Given the description of an element on the screen output the (x, y) to click on. 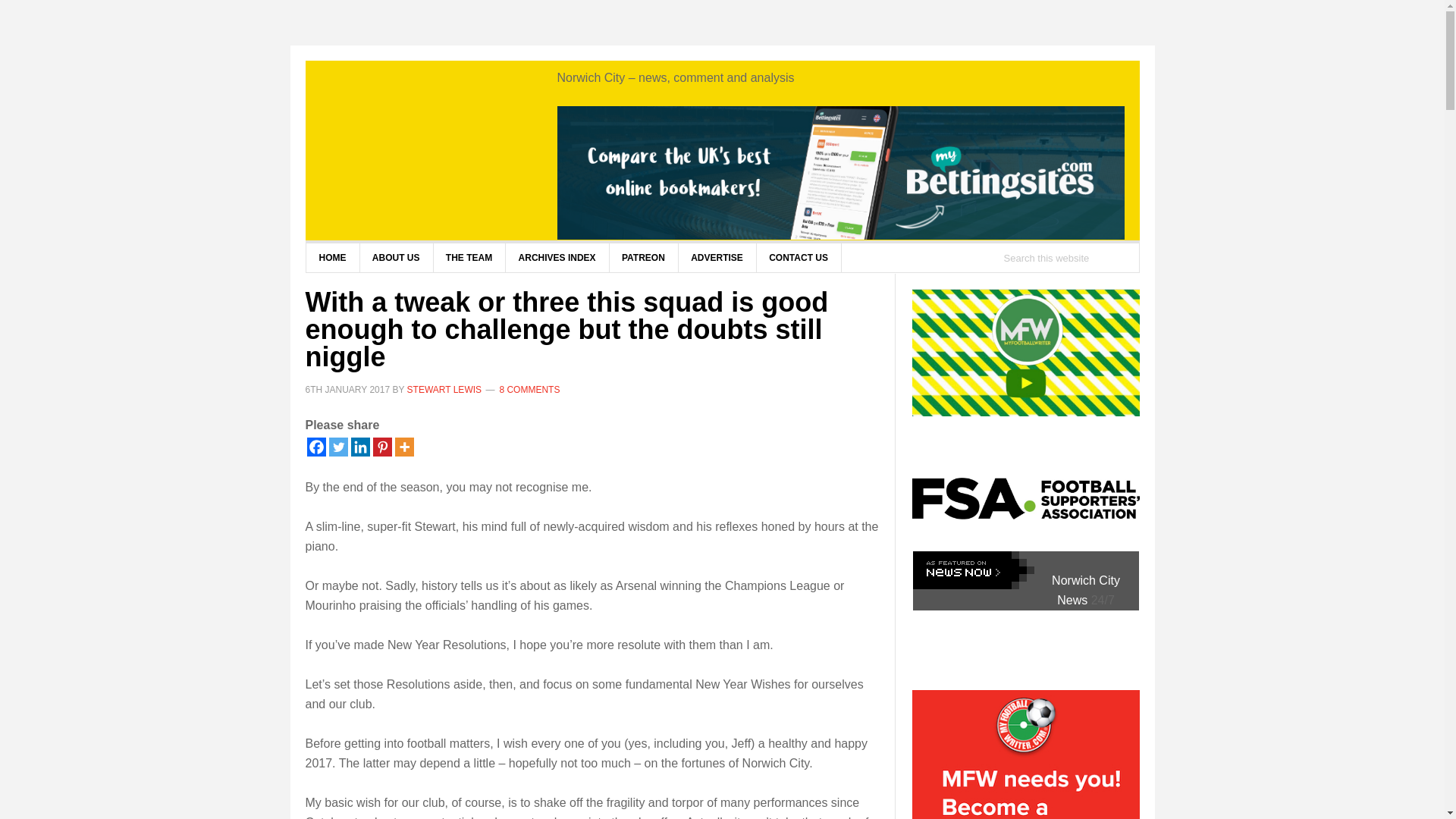
MY FOOTBALL WRITER (426, 147)
PATREON (643, 257)
Pinterest (381, 446)
ABOUT US (396, 257)
THE TEAM (468, 257)
HOME (332, 257)
STEWART LEWIS (444, 388)
More (403, 446)
CONTACT US (798, 257)
ARCHIVES INDEX (557, 257)
ADVERTISE (717, 257)
Linkedin (359, 446)
Twitter (338, 446)
Facebook (314, 446)
